Given the description of an element on the screen output the (x, y) to click on. 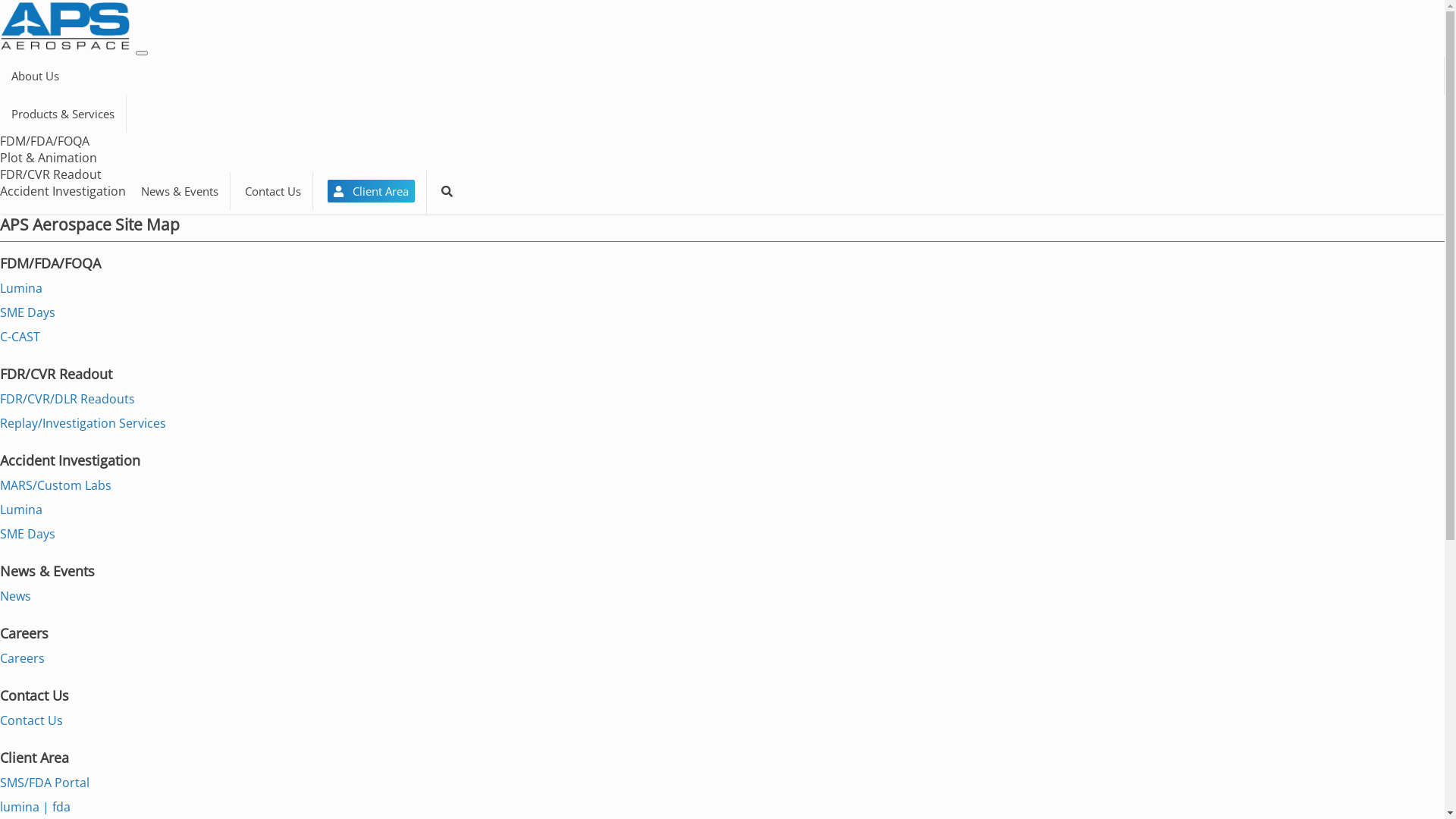
MARS/Custom Labs Element type: text (55, 484)
Contact Us Element type: text (273, 191)
About Us Element type: text (722, 75)
FDM/FDA/FOQA Element type: text (44, 140)
FDR/CVR/DLR Readouts Element type: text (67, 398)
lumina | fda Element type: text (35, 806)
Lumina Element type: text (21, 509)
SME Days Element type: text (27, 312)
Lumina Element type: text (21, 287)
C-CAST Element type: text (20, 336)
SMS/FDA Portal Element type: text (44, 782)
News Element type: text (15, 595)
Replay/Investigation Services Element type: text (83, 422)
Careers Element type: text (22, 657)
News & Events Element type: text (179, 191)
Accident Investigation Element type: text (62, 190)
SME Days Element type: text (27, 533)
Contact Us Element type: text (31, 720)
FDR/CVR Readout Element type: text (50, 174)
Products & Services Element type: text (63, 113)
Plot & Animation Element type: text (48, 157)
  Client Area Element type: text (370, 190)
